Given the description of an element on the screen output the (x, y) to click on. 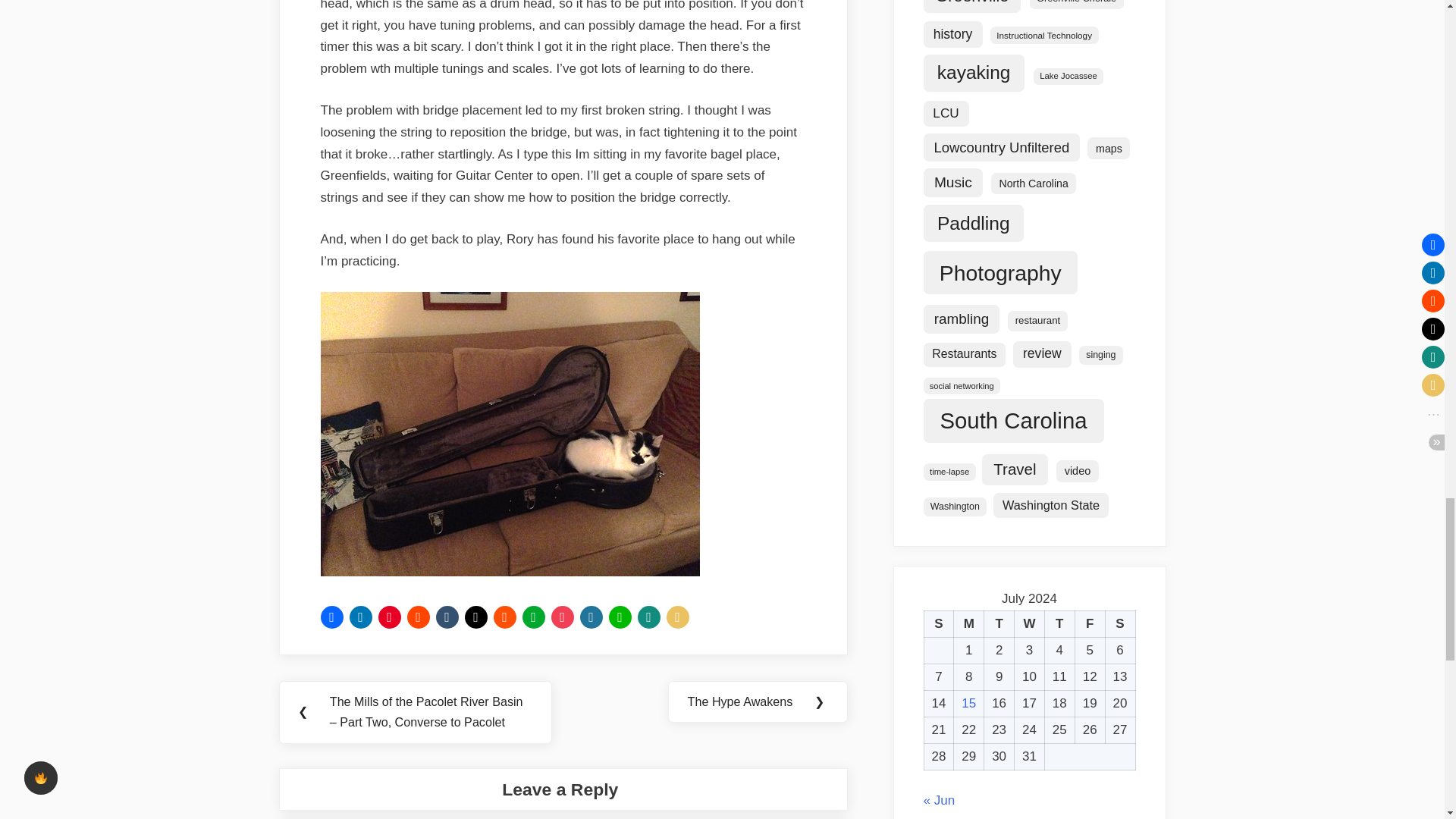
Birthday Banjo (509, 572)
Wednesday (1029, 624)
Friday (1089, 624)
Monday (968, 624)
Saturday (1120, 624)
Sunday (938, 624)
Thursday (1058, 624)
Tuesday (999, 624)
